Given the description of an element on the screen output the (x, y) to click on. 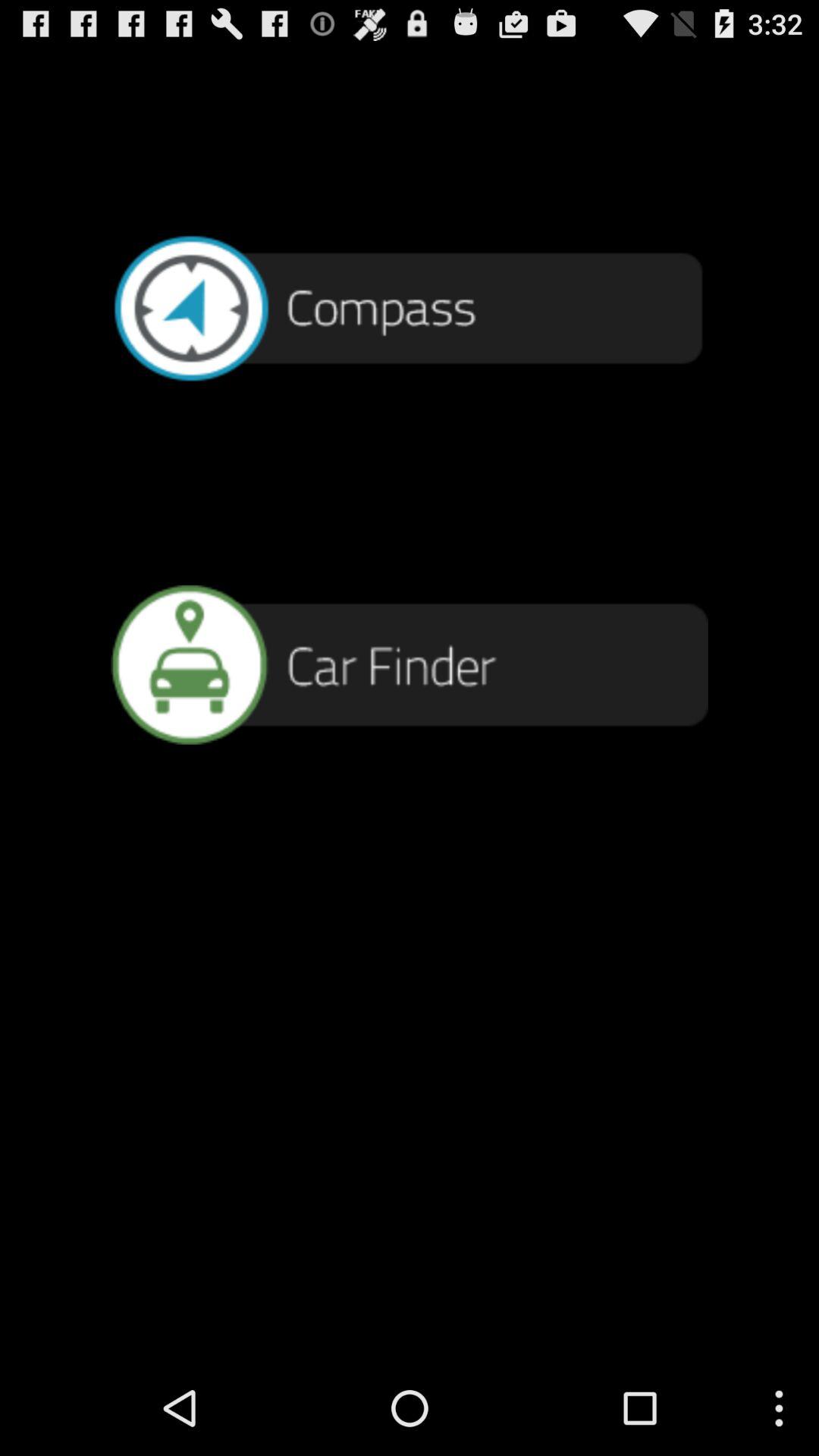
go to car finder (409, 664)
